Given the description of an element on the screen output the (x, y) to click on. 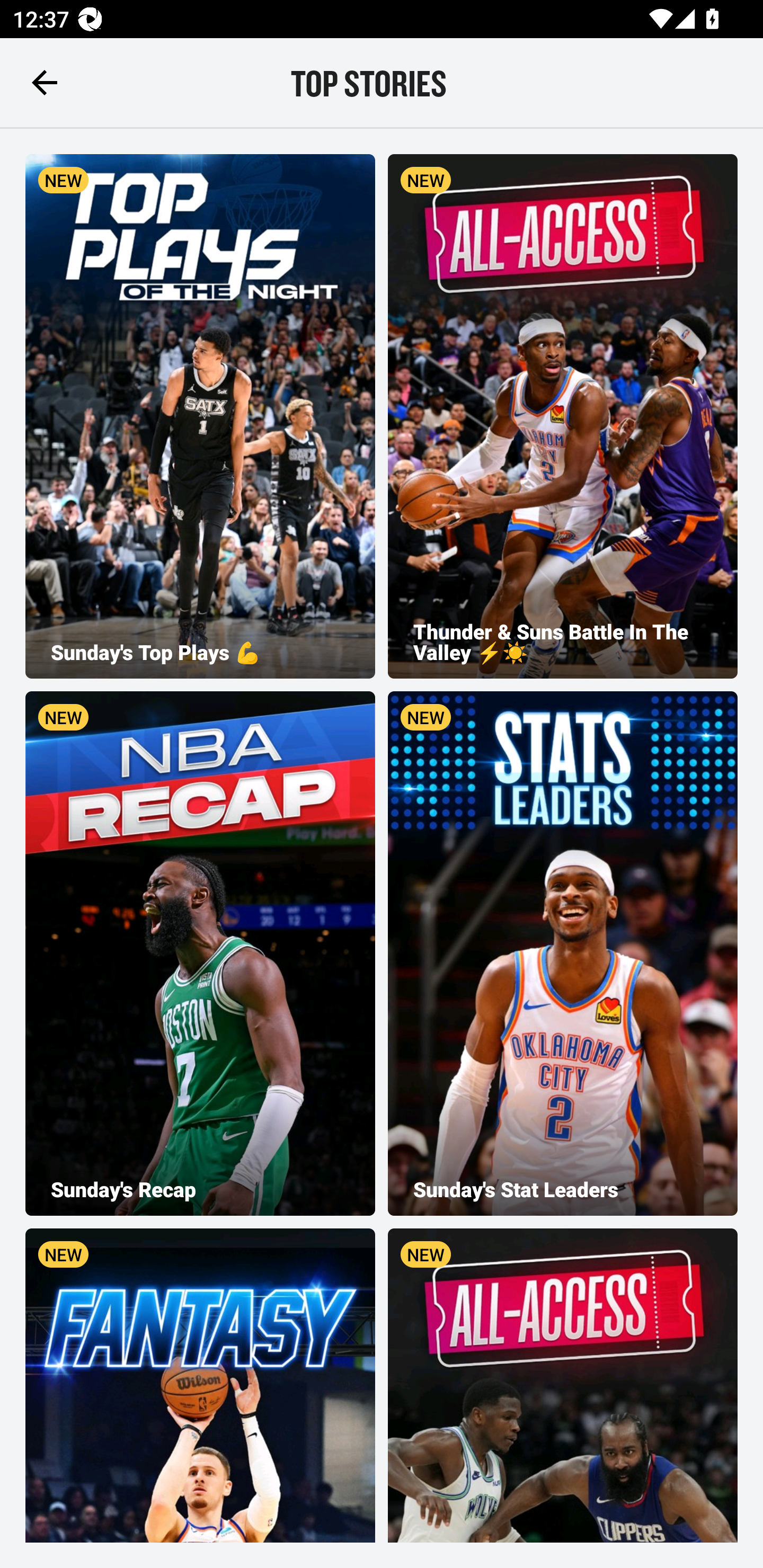
Navigate up (44, 82)
NEW Sunday's Top Plays 💪 (200, 415)
NEW Thunder & Suns Battle In The Valley ⚡☀ (562, 415)
NEW Sunday's Recap (200, 953)
NEW Sunday's Stat Leaders (562, 953)
NEW (200, 1384)
NEW (562, 1384)
